Given the description of an element on the screen output the (x, y) to click on. 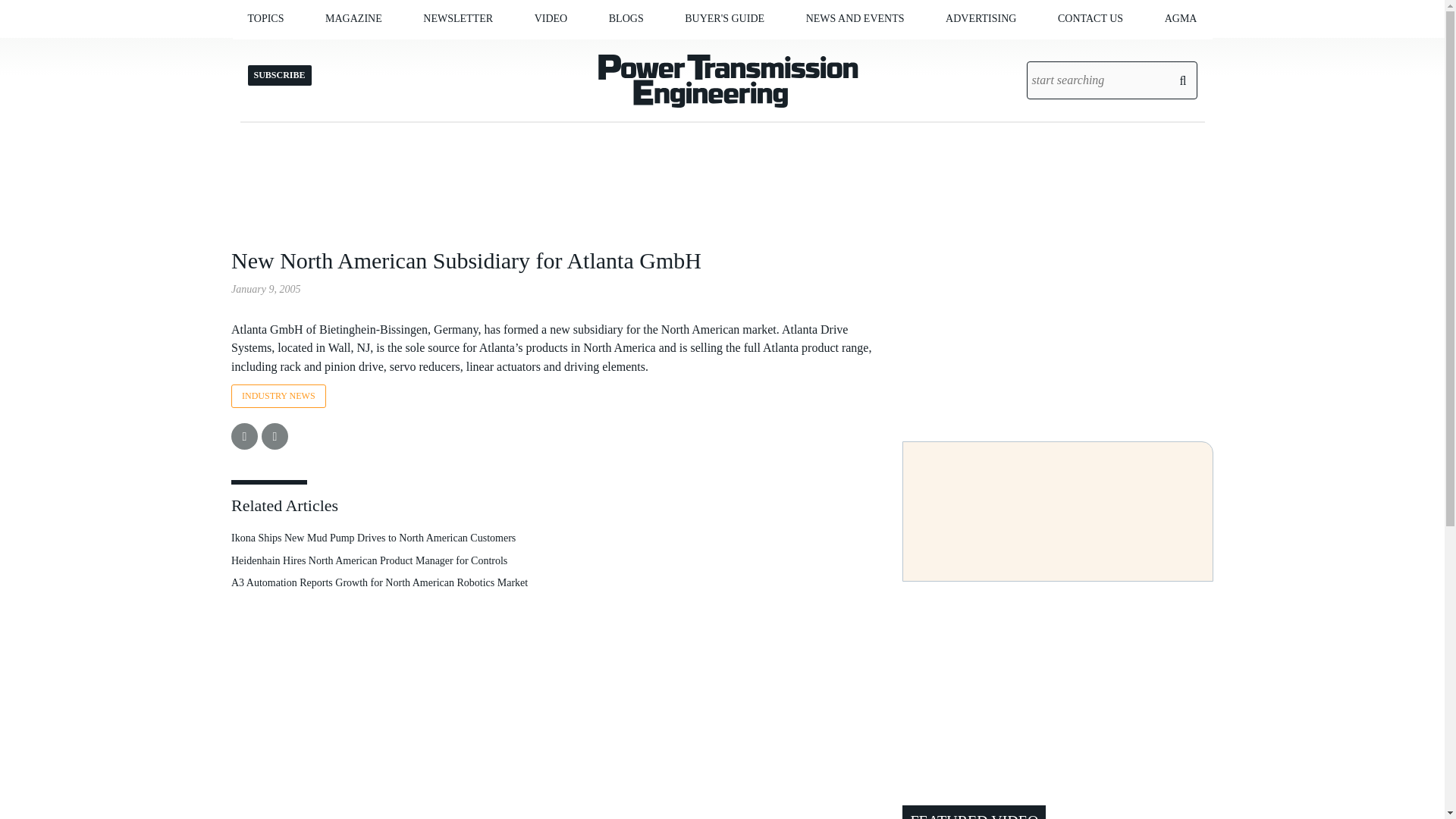
COMPONENTS (338, 50)
INDUSTRY NEWS (886, 50)
DEPARTMENTS (407, 50)
POWER TRANSMISSION ENGINEERING TV (609, 55)
NEWS AND EVENTS (855, 18)
DESIGN (322, 50)
EDITORS CHOICE (690, 50)
NEWSLETTER (458, 18)
ADVERTISE (419, 50)
INDUSTRY (342, 50)
BEARINGS WITH NORM (701, 50)
MOTOR MATTERS WITH GEORGE HOLLING (695, 55)
PRODUCT NEWS (882, 50)
ADVERTISING (980, 18)
REVOLUTIONS (684, 50)
